Given the description of an element on the screen output the (x, y) to click on. 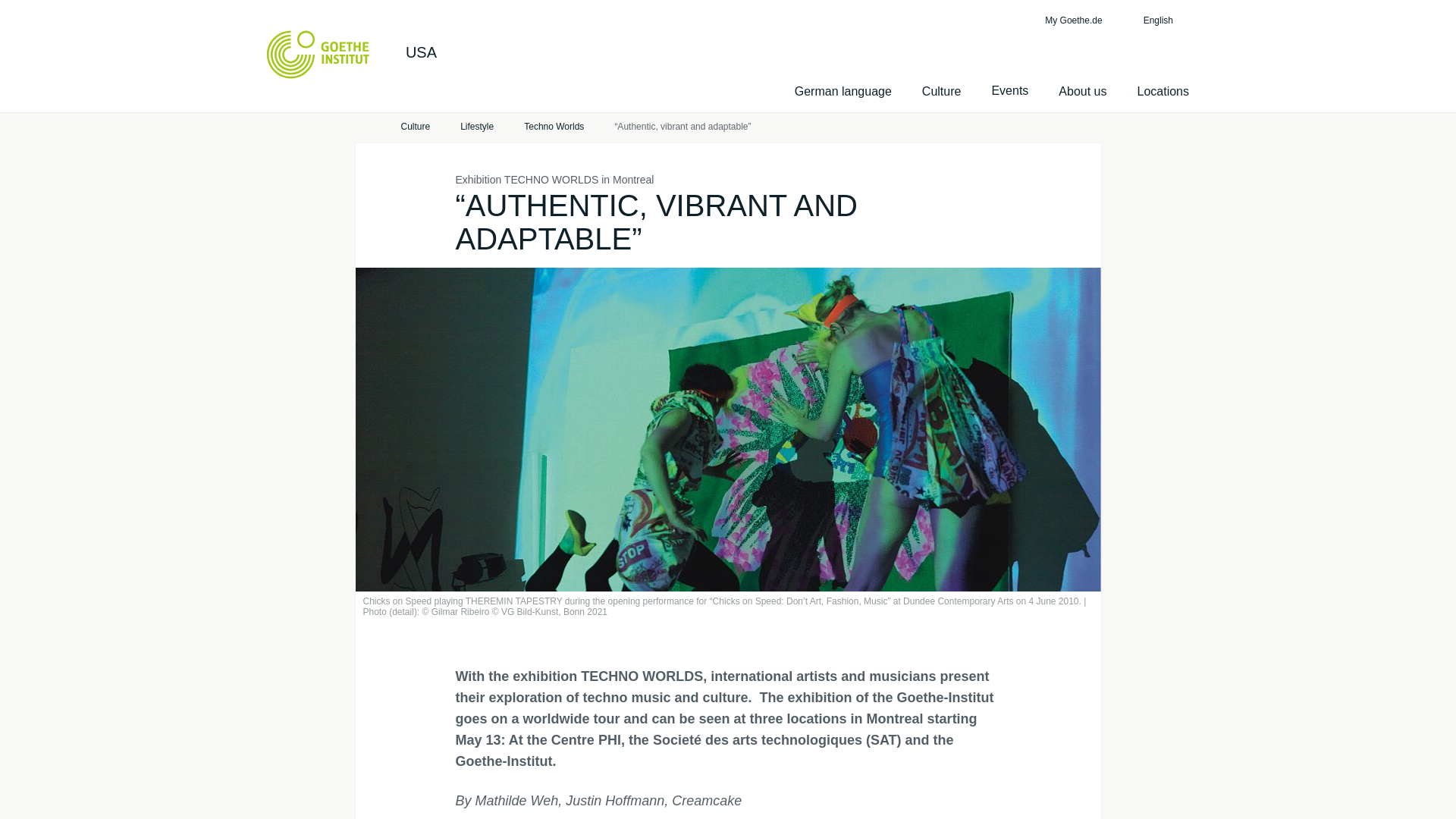
Culture (414, 127)
English (1165, 20)
German language (842, 91)
Culture (940, 91)
Techno Worlds (553, 127)
Home (362, 127)
Techno Worlds (553, 127)
Events (1009, 90)
Lifestyle (476, 127)
About us (1082, 91)
